Given the description of an element on the screen output the (x, y) to click on. 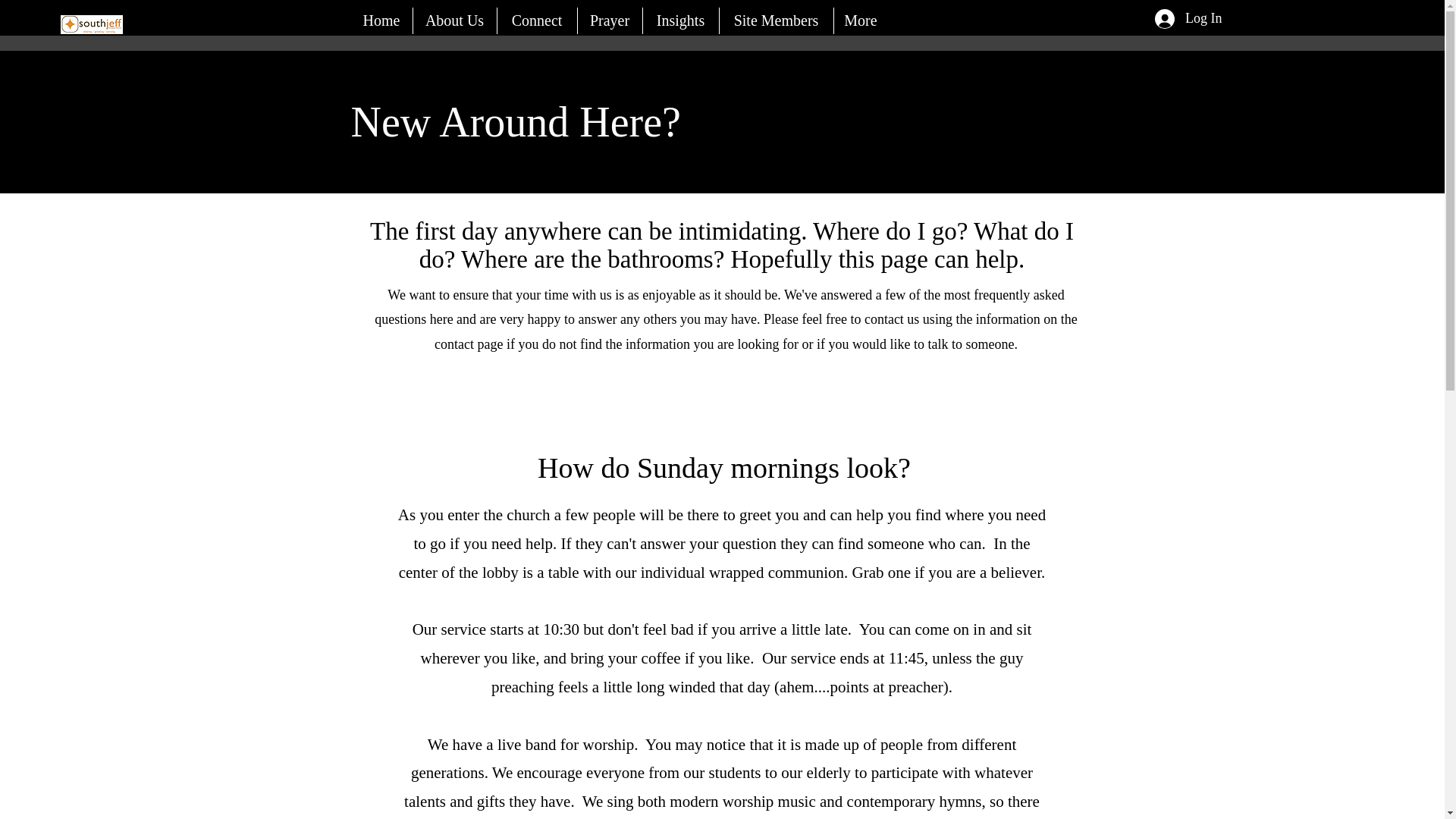
Log In (1188, 19)
Site Members (775, 20)
Insights (679, 20)
Home (381, 20)
Prayer (609, 20)
